Given the description of an element on the screen output the (x, y) to click on. 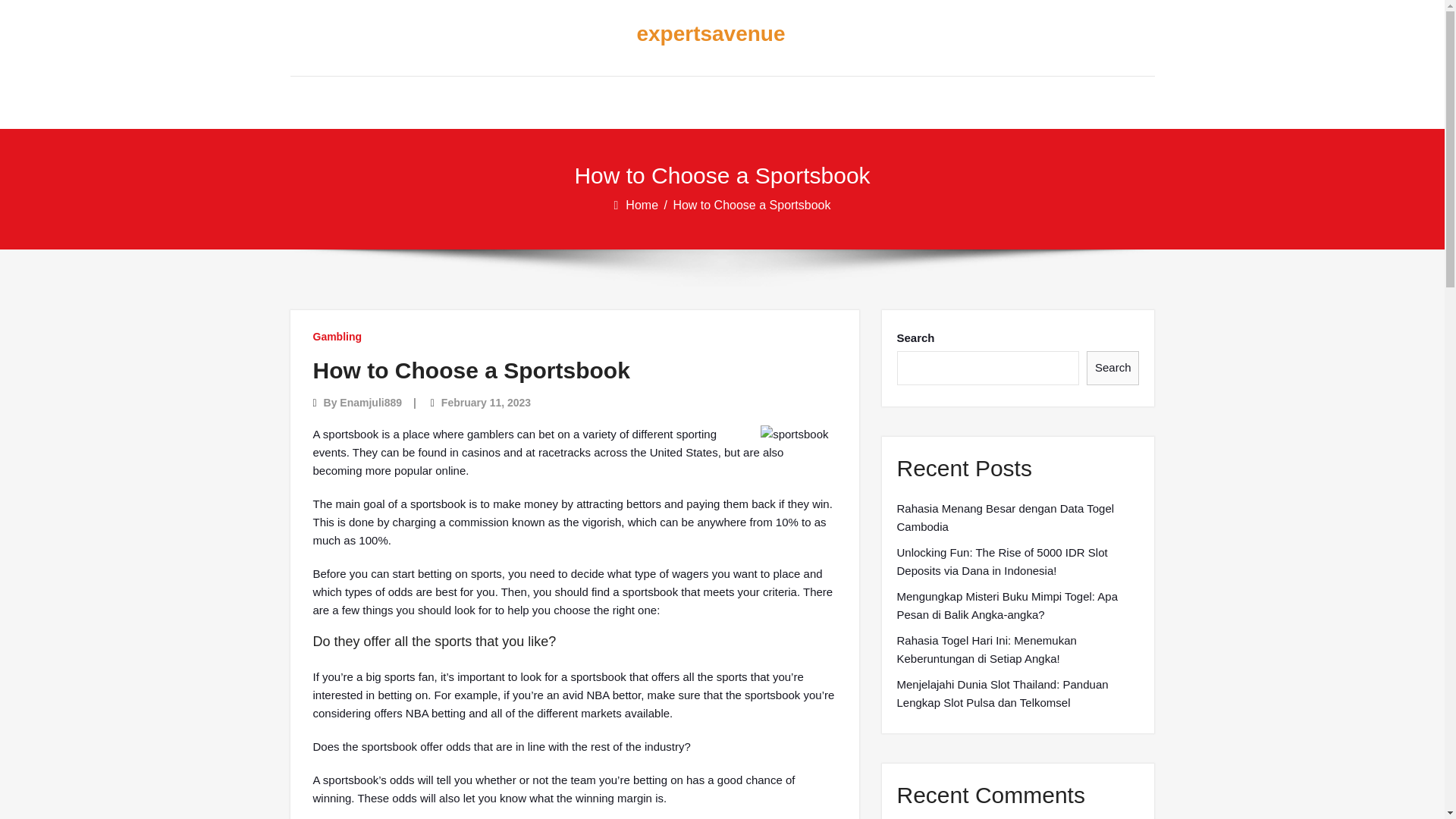
February 11, 2023 (486, 402)
Home (643, 205)
Rahasia Menang Besar dengan Data Togel Cambodia (1017, 517)
expertsavenue (710, 34)
Search (1113, 367)
Gambling (337, 336)
